Given the description of an element on the screen output the (x, y) to click on. 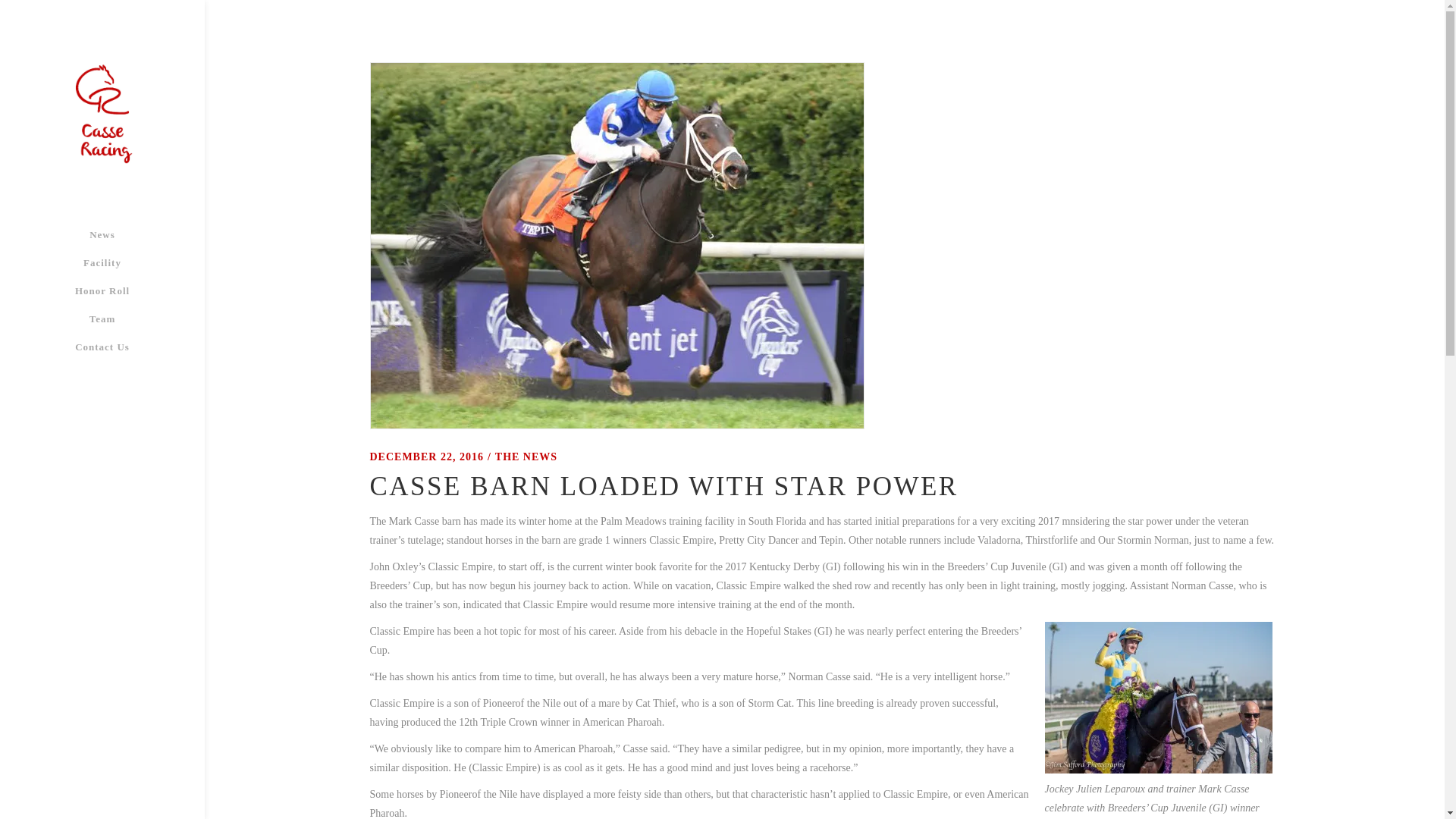
Team (101, 318)
Honor Roll (101, 290)
News (101, 234)
Facility (101, 262)
Contact Us (101, 346)
THE NEWS (526, 456)
